Given the description of an element on the screen output the (x, y) to click on. 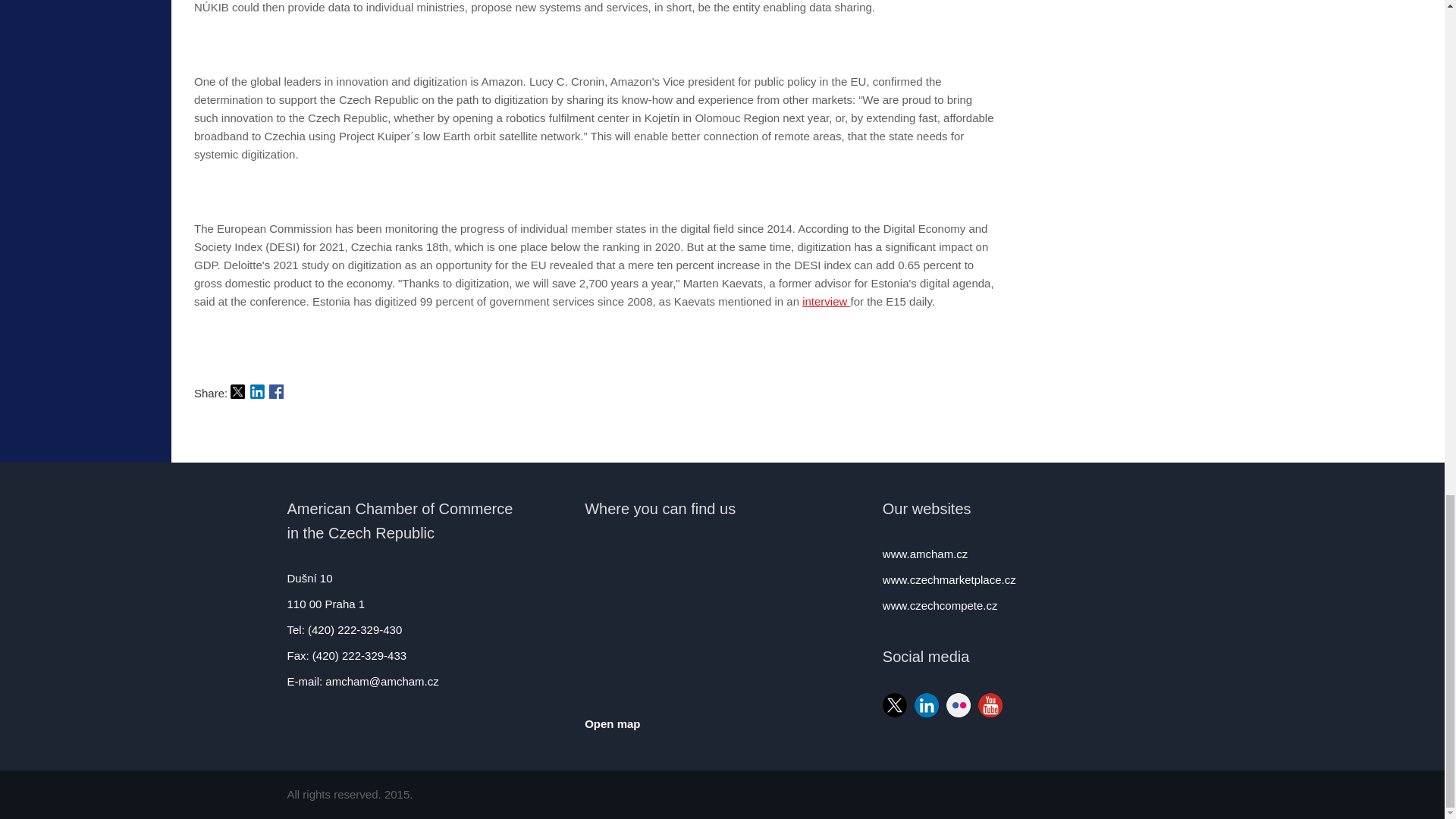
www.czechmarketplace.cz (949, 579)
Open map (722, 723)
interview (826, 300)
facebook (276, 391)
www.czechcompete.cz (939, 604)
www.amcham.cz (925, 553)
linkedin (257, 391)
twitter (237, 391)
